Given the description of an element on the screen output the (x, y) to click on. 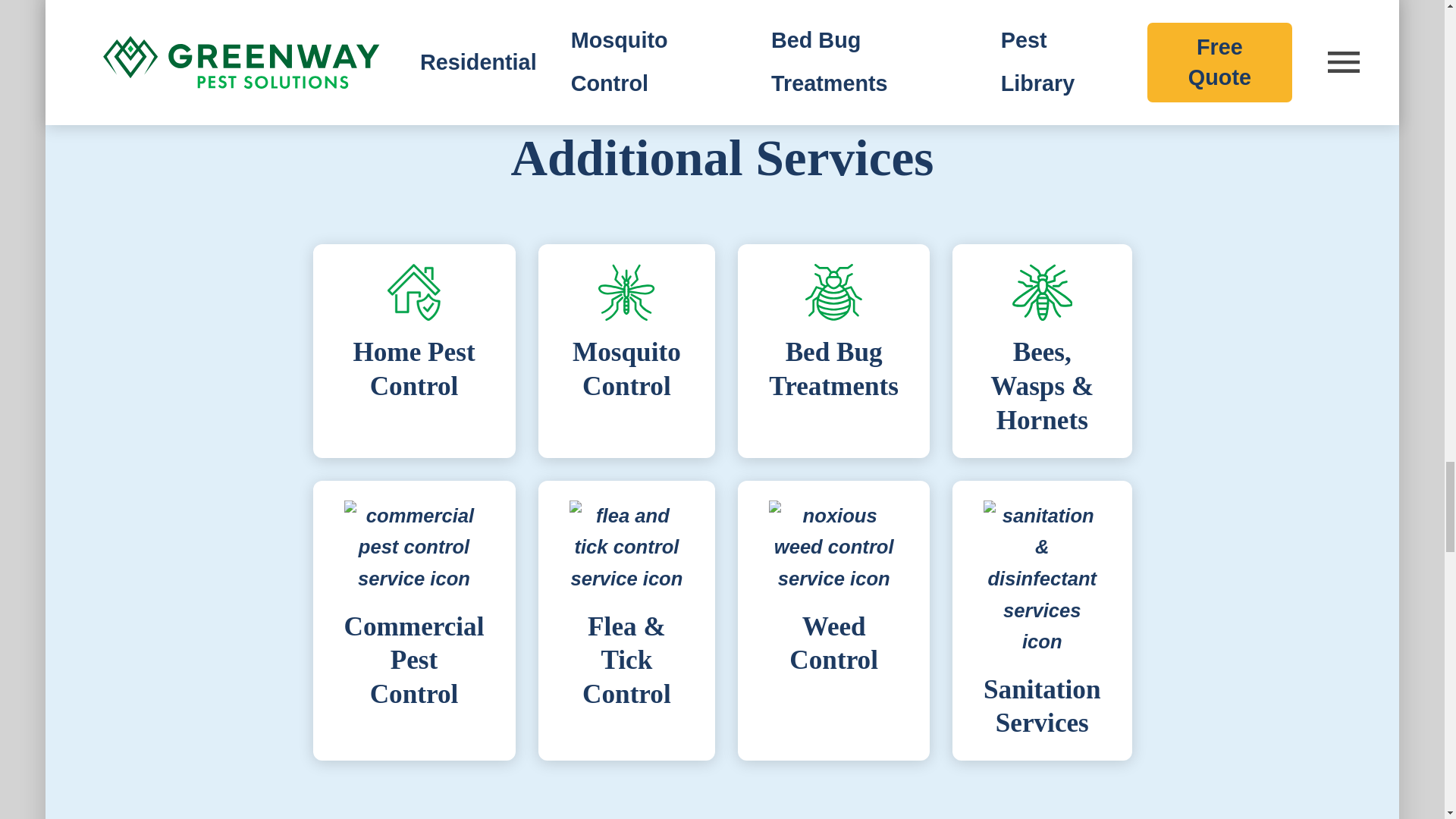
rated stars (1089, 37)
